Given the description of an element on the screen output the (x, y) to click on. 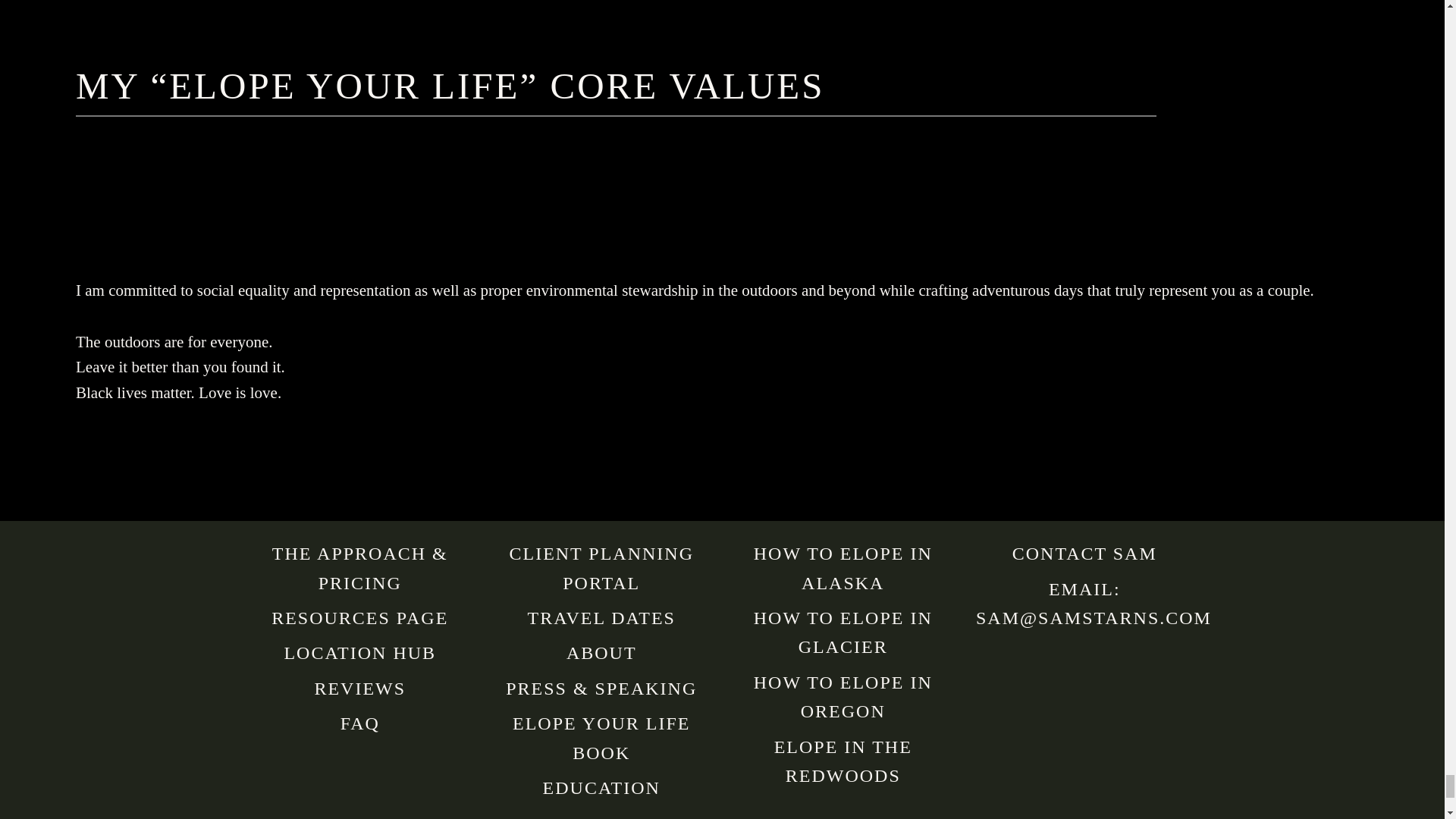
LOCATION HUB (359, 652)
RESOURCES PAGE (359, 618)
